Given the description of an element on the screen output the (x, y) to click on. 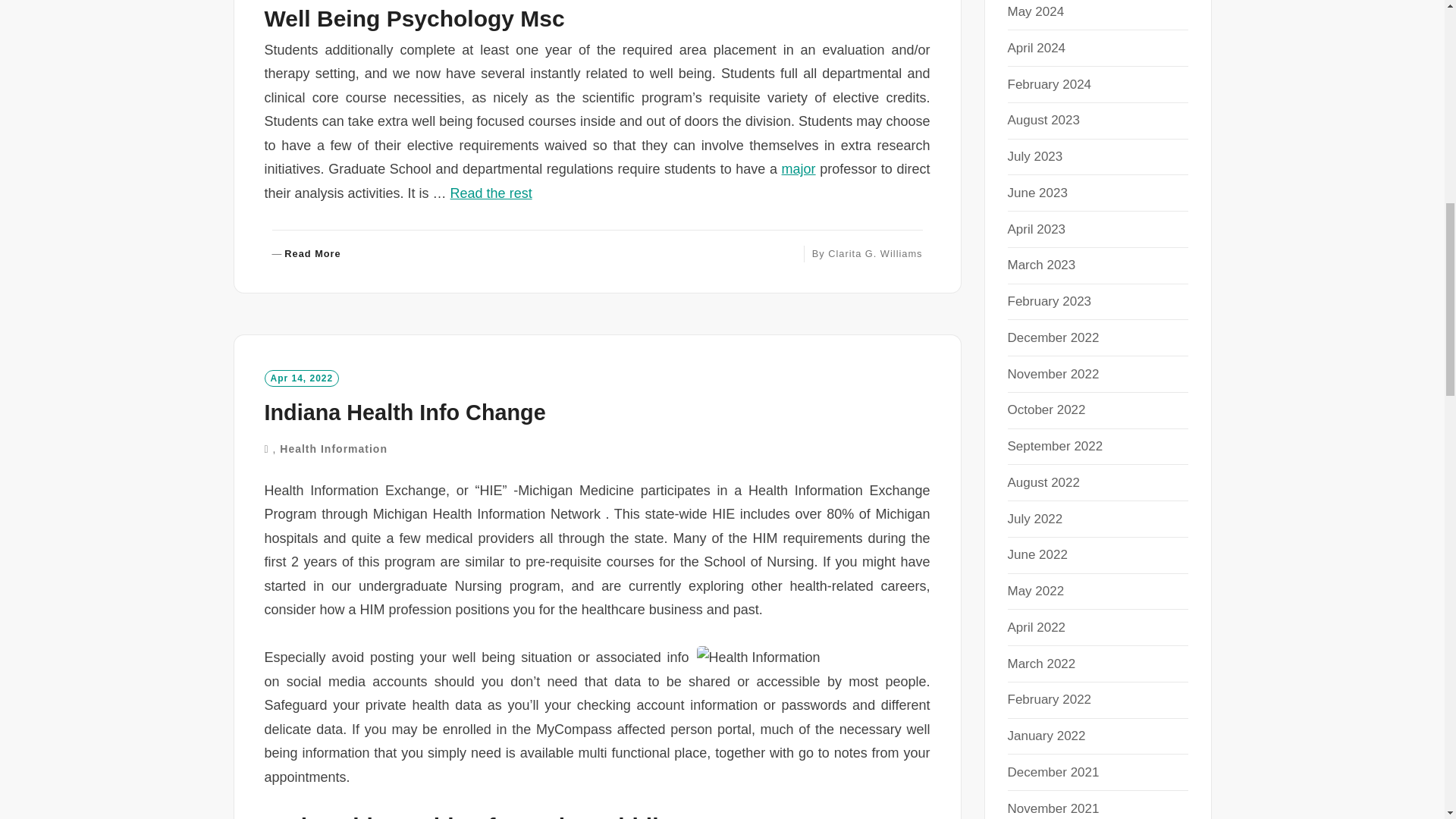
major (798, 168)
